Given the description of an element on the screen output the (x, y) to click on. 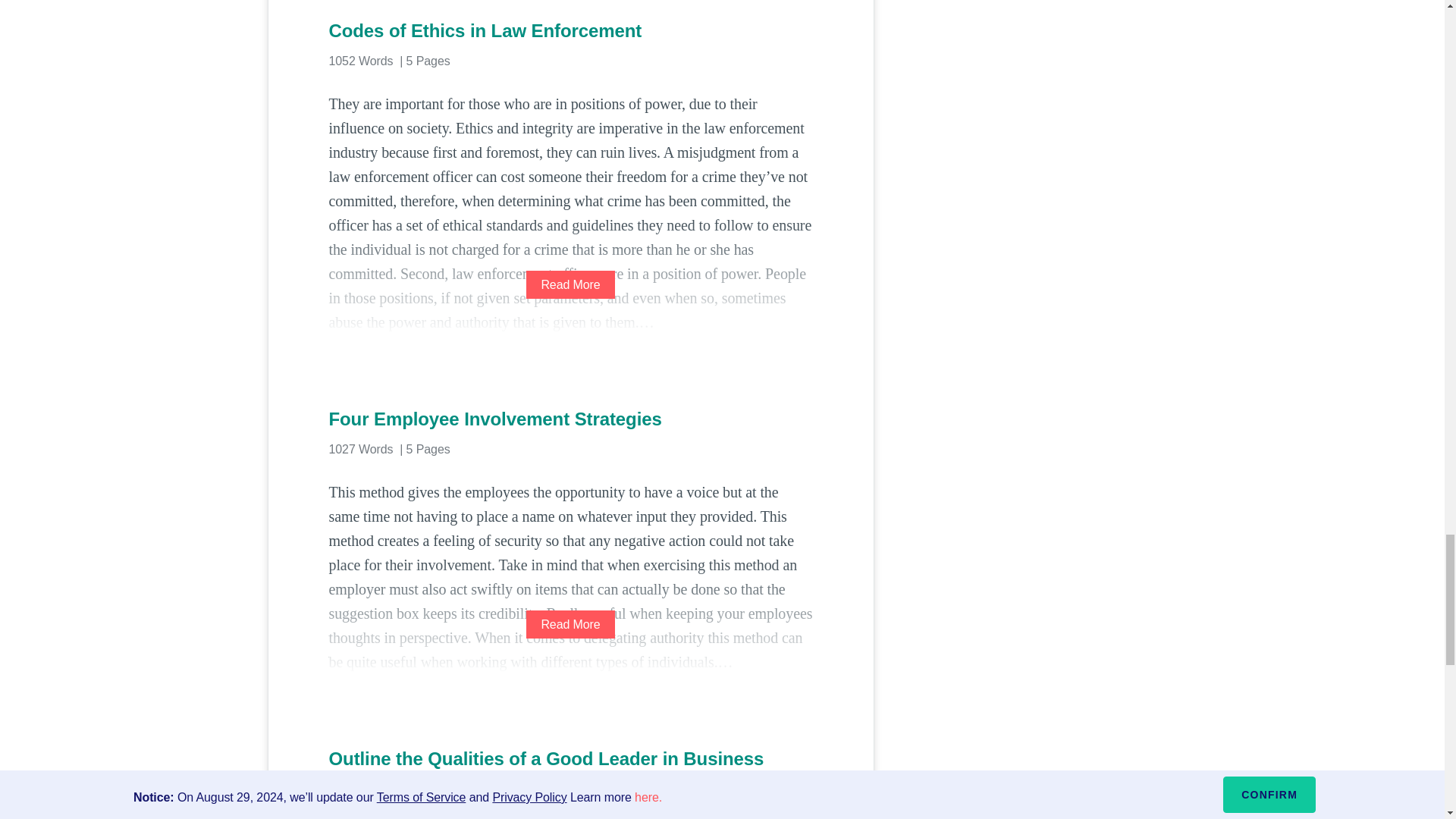
Codes of Ethics in Law Enforcement (570, 30)
Four Employee Involvement Strategies (570, 419)
Outline the Qualities of a Good Leader in Business Context. (570, 771)
Read More (569, 284)
Read More (569, 624)
